Given the description of an element on the screen output the (x, y) to click on. 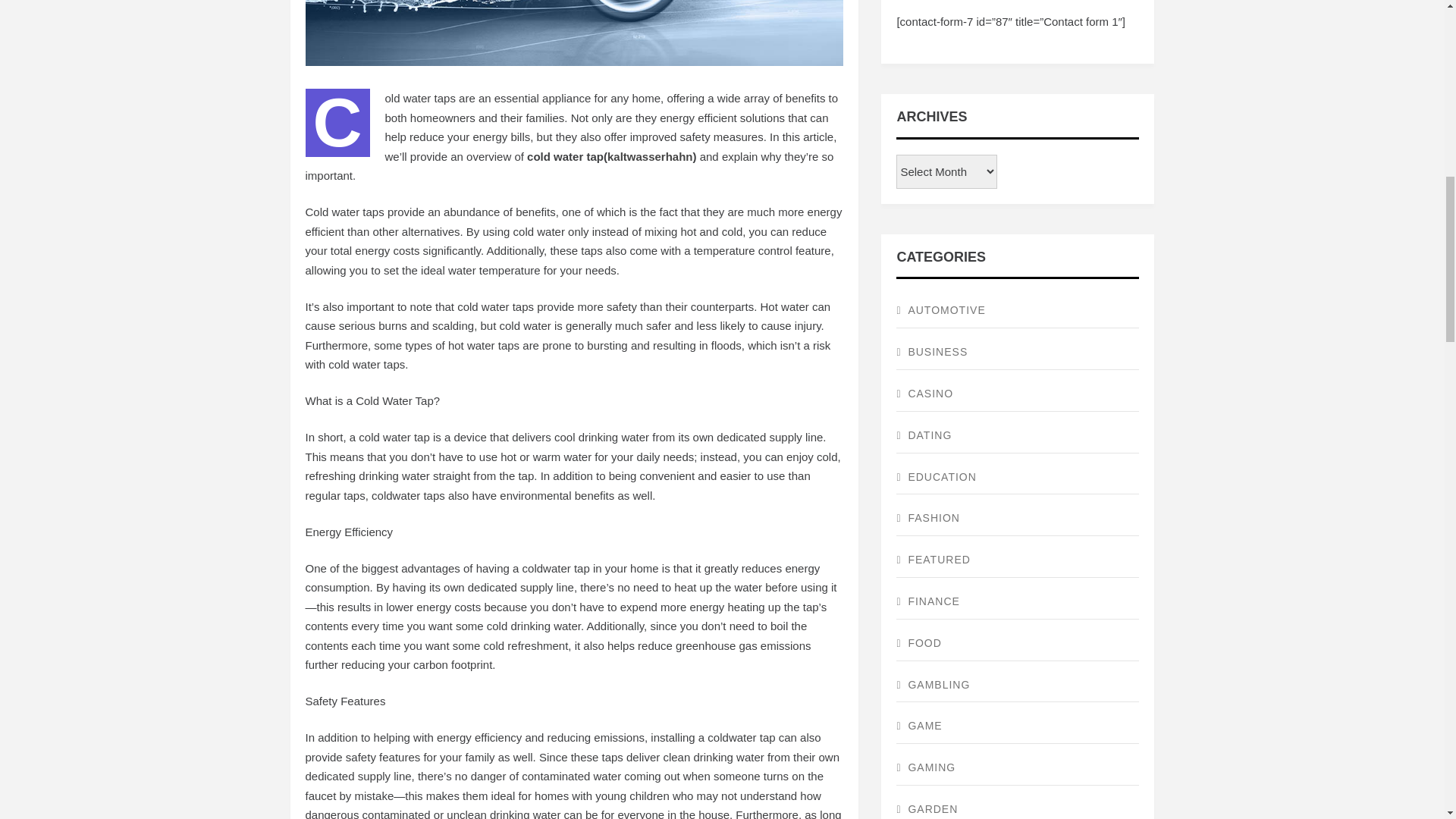
BUSINESS (1017, 352)
kaltwasserhahn (650, 155)
FOOD (1017, 643)
EDUCATION (1017, 478)
FINANCE (1017, 602)
AUTOMOTIVE (1017, 311)
GAME (1017, 726)
GAMING (1017, 768)
GARDEN (1017, 806)
FEATURED (1017, 560)
GAMBLING (1017, 685)
CASINO (1017, 394)
FASHION (1017, 519)
DATING (1017, 436)
